Given the description of an element on the screen output the (x, y) to click on. 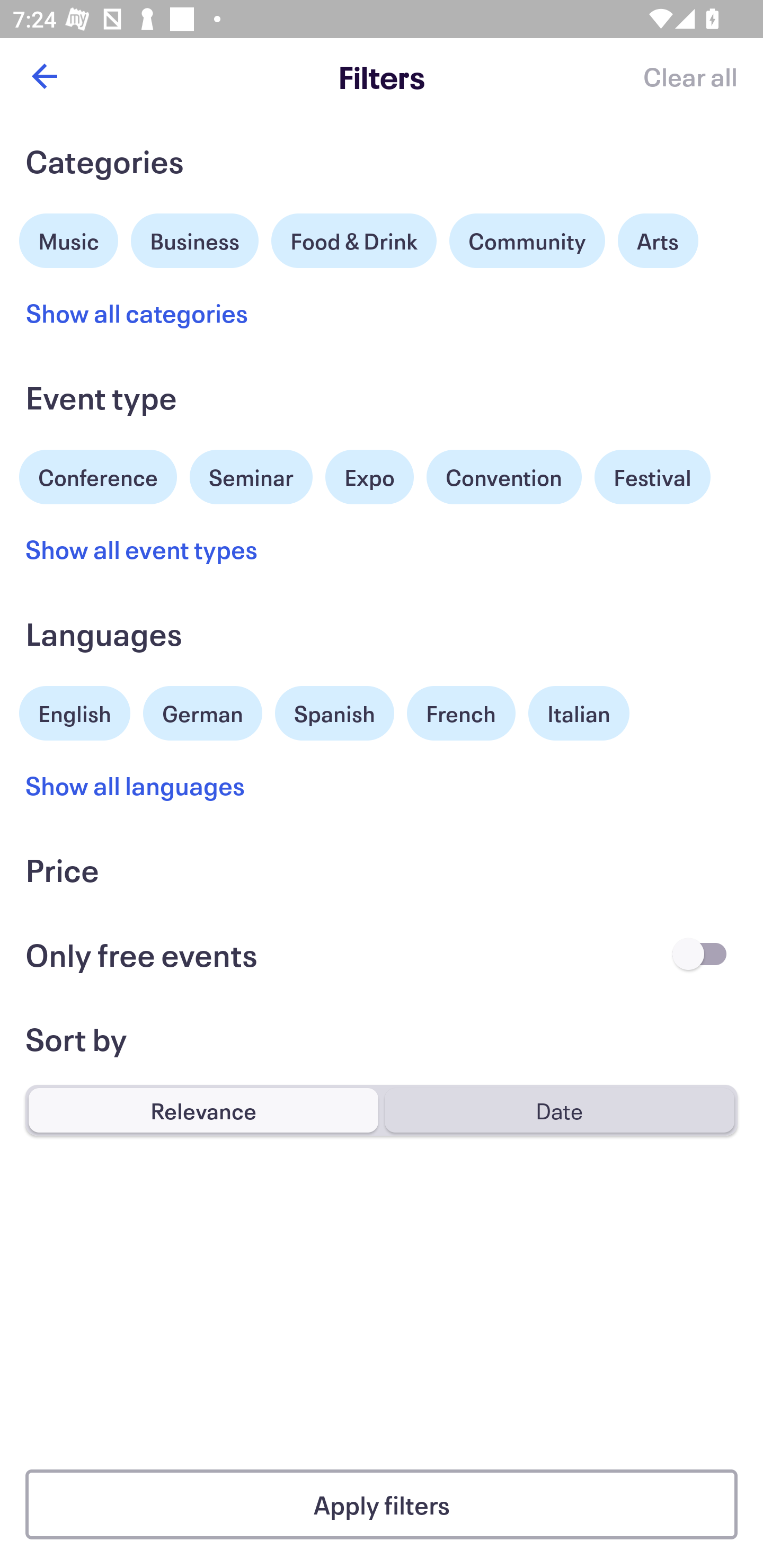
Back button (44, 75)
Clear all (690, 75)
Music (68, 238)
Business (194, 238)
Food & Drink (353, 240)
Community (527, 240)
Arts (658, 240)
Show all categories (136, 312)
Conference (98, 475)
Seminar (250, 477)
Expo (369, 477)
Convention (503, 477)
Festival (652, 477)
Show all event types (141, 548)
English (74, 710)
German (202, 710)
Spanish (334, 713)
French (460, 713)
Italian (578, 713)
Show all languages (135, 784)
Relevance (203, 1109)
Date (559, 1109)
Apply filters (381, 1504)
